Given the description of an element on the screen output the (x, y) to click on. 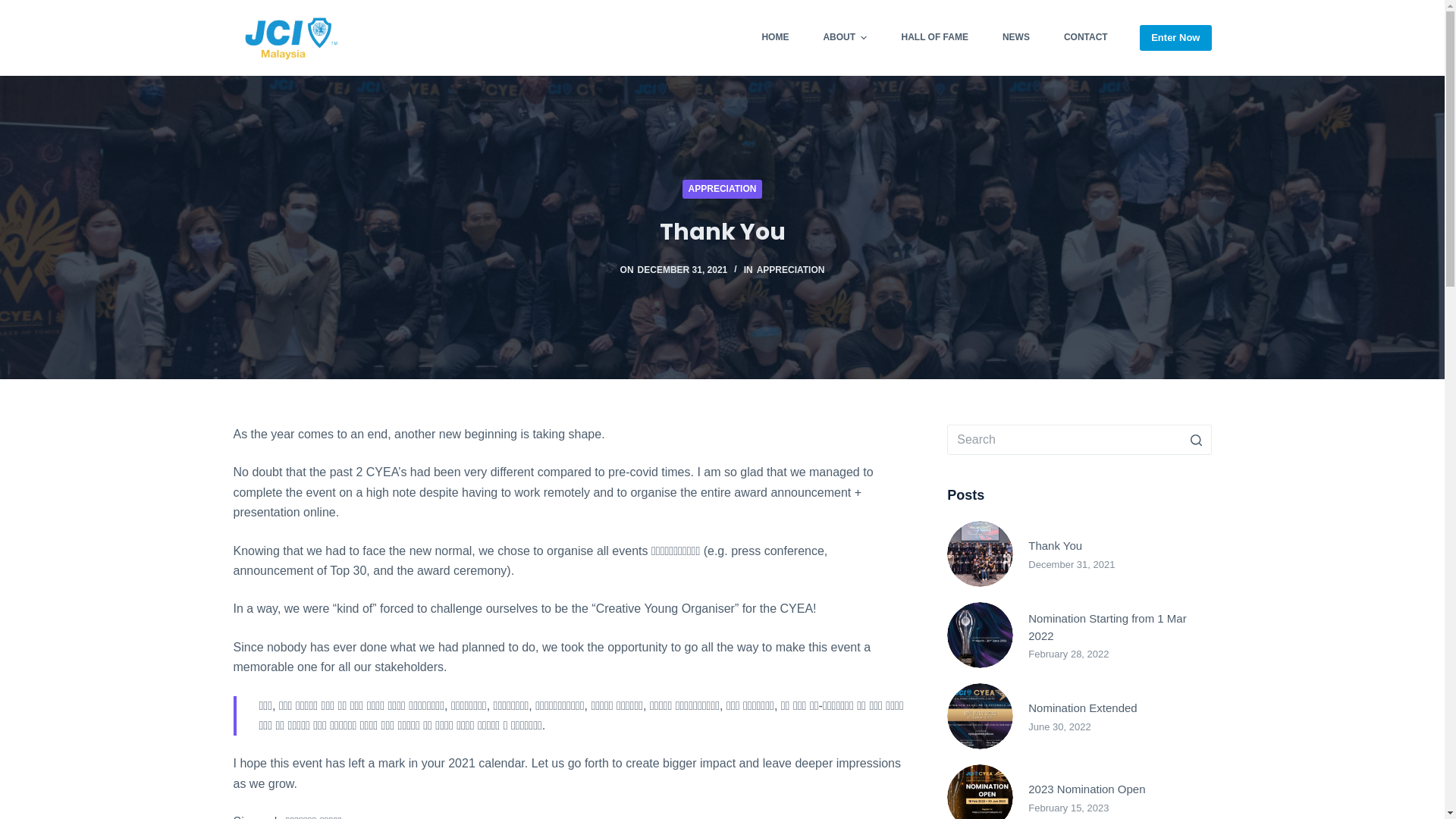
HOME Element type: text (775, 37)
APPRECIATION Element type: text (722, 188)
Skip to content Element type: text (15, 7)
Enter Now Element type: text (1175, 37)
Search for... Element type: hover (1079, 439)
HALL OF FAME Element type: text (934, 37)
NEWS Element type: text (1015, 37)
APPRECIATION Element type: text (790, 269)
Nomination Starting from 1 Mar 2022
February 28, 2022 Element type: text (1079, 635)
ABOUT Element type: text (845, 37)
CONTACT Element type: text (1085, 37)
Thank You
December 31, 2021 Element type: text (1079, 553)
Nomination Extended
June 30, 2022 Element type: text (1079, 716)
